Given the description of an element on the screen output the (x, y) to click on. 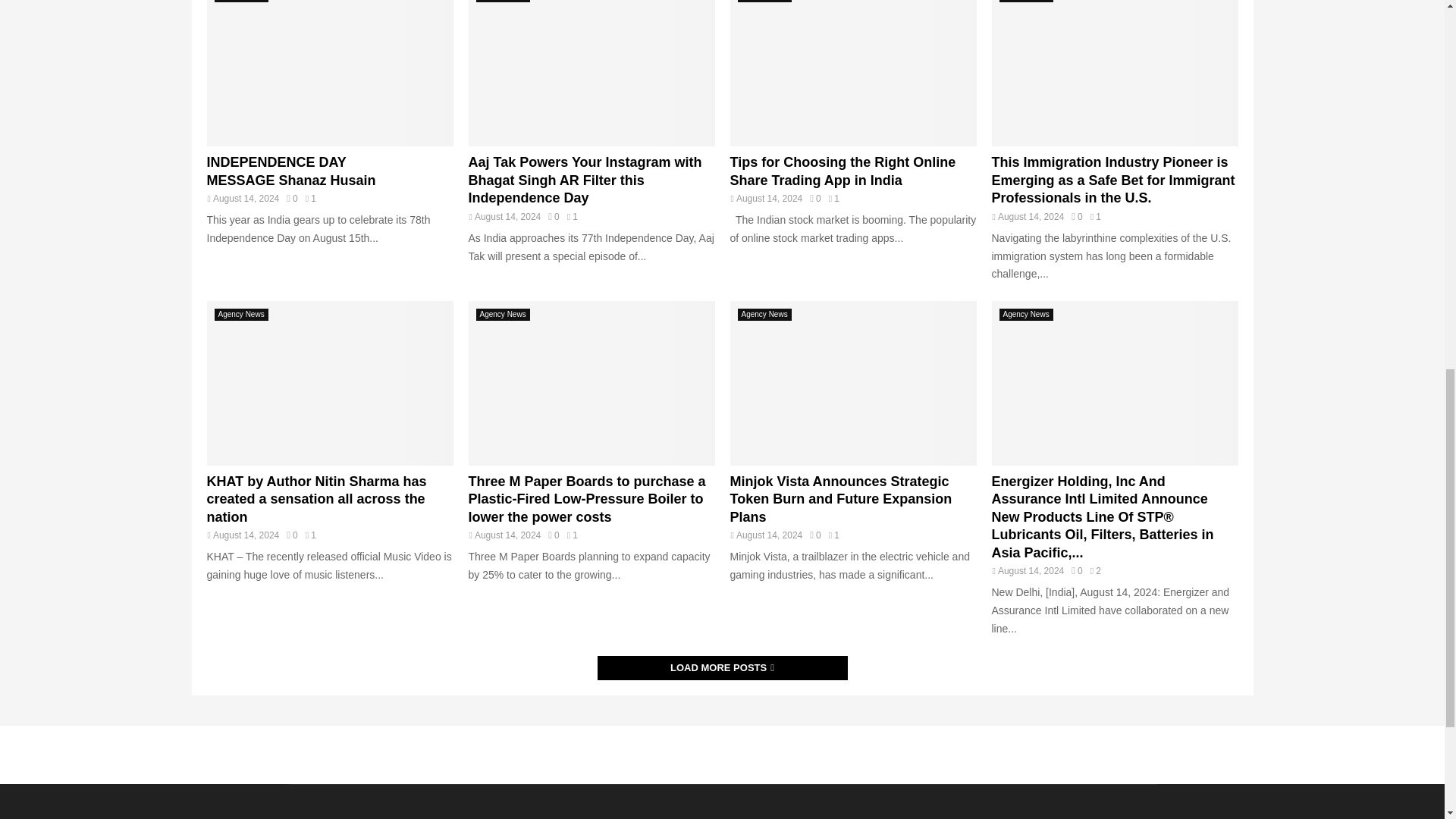
View all posts in Agency News (240, 314)
View all posts in Agency News (240, 1)
Agency News (763, 1)
INDEPENDENCE DAY MESSAGE Shanaz Husain (290, 170)
0 (291, 198)
0 (553, 216)
0 (291, 534)
